Given the description of an element on the screen output the (x, y) to click on. 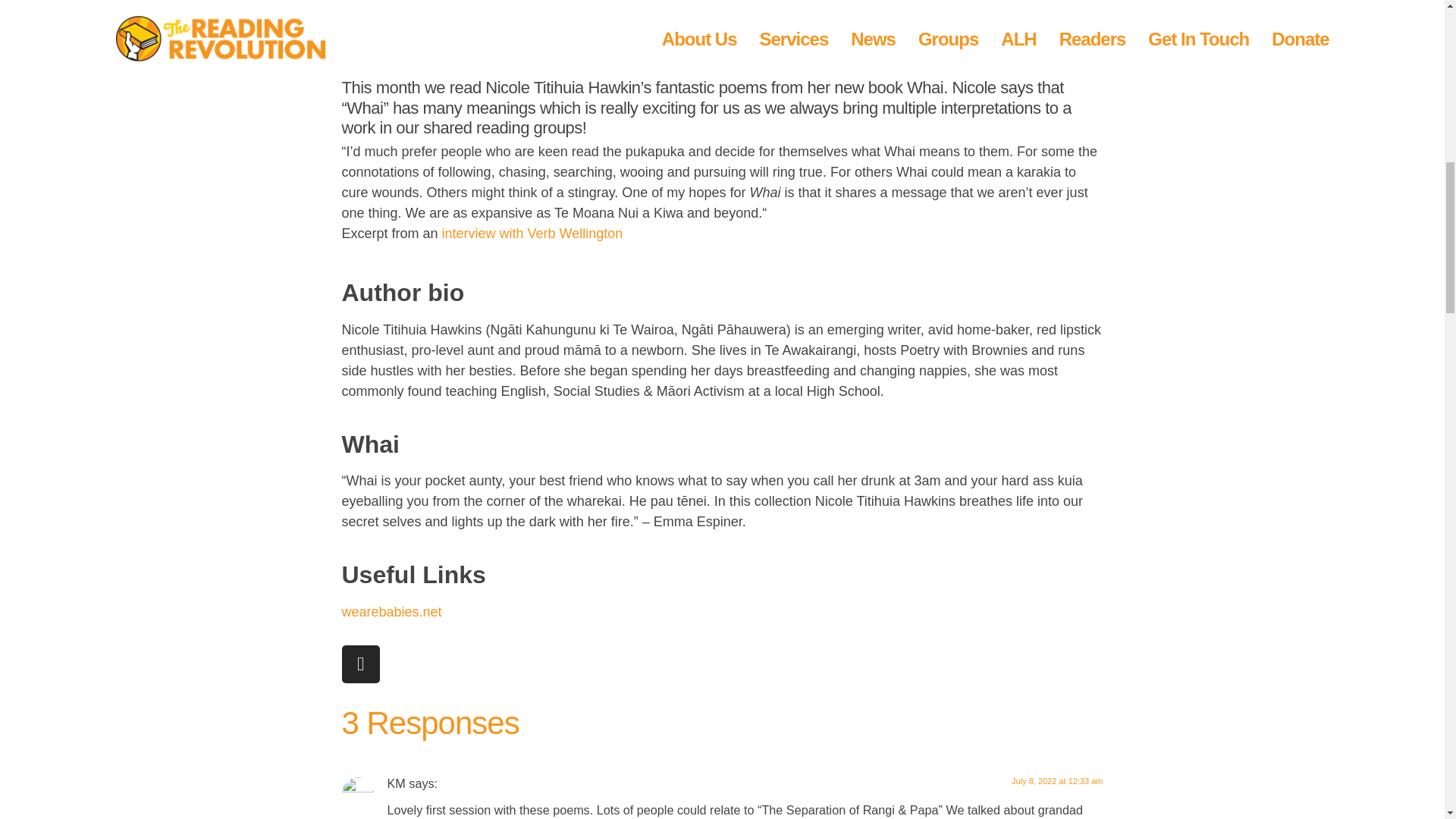
July 8, 2022 at 12:33 am (1056, 780)
wearebabies.net (390, 611)
interview with Verb Wellington (532, 233)
